Given the description of an element on the screen output the (x, y) to click on. 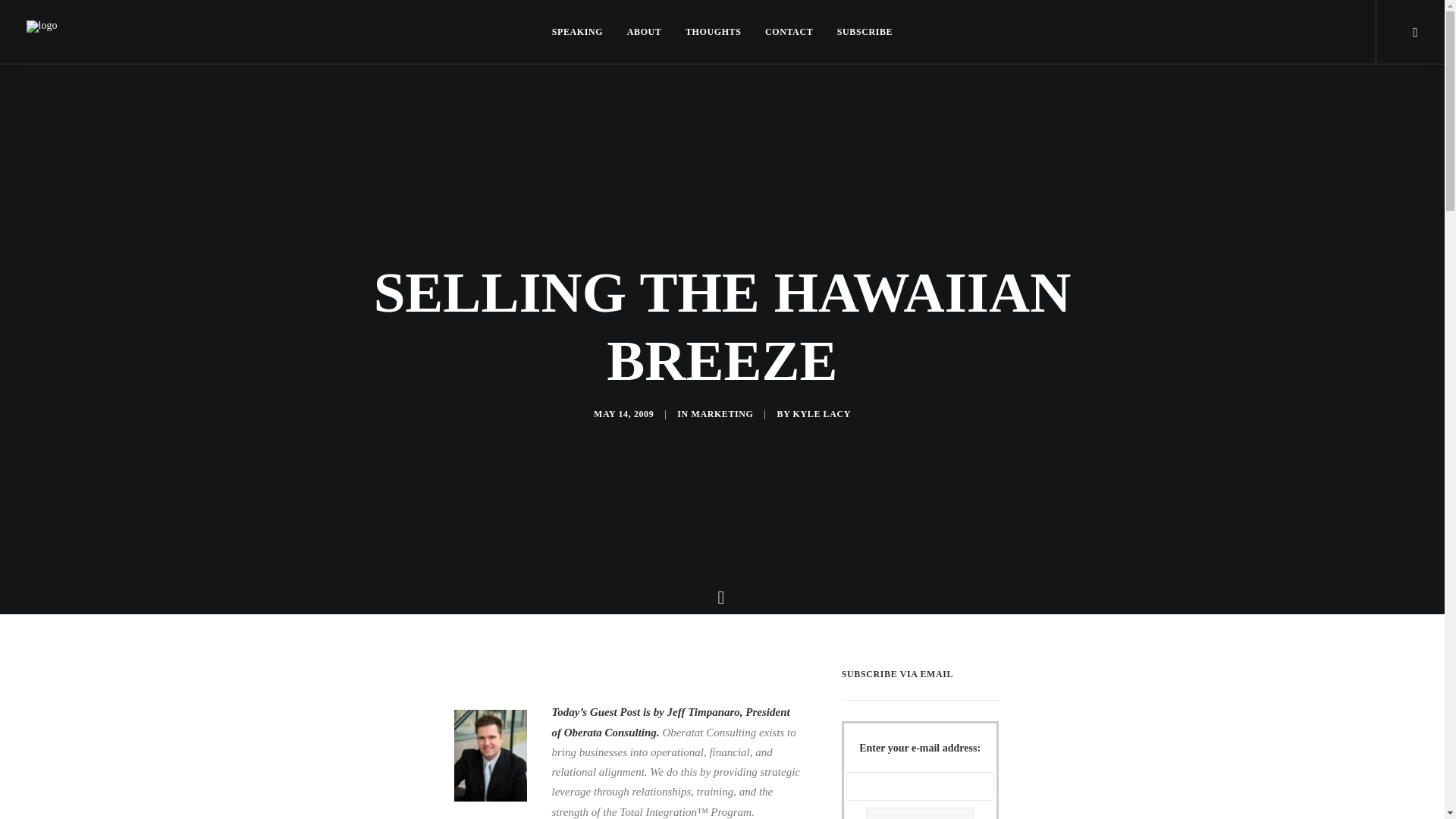
Subscribe (859, 31)
THOUGHTS (713, 31)
SPEAKING (581, 31)
Contact (789, 31)
View all posts in Marketing (721, 413)
MARKETING (721, 413)
Thoughts (713, 31)
Subscribe (920, 813)
CONTACT (789, 31)
Oberata Consulting (610, 732)
